Given the description of an element on the screen output the (x, y) to click on. 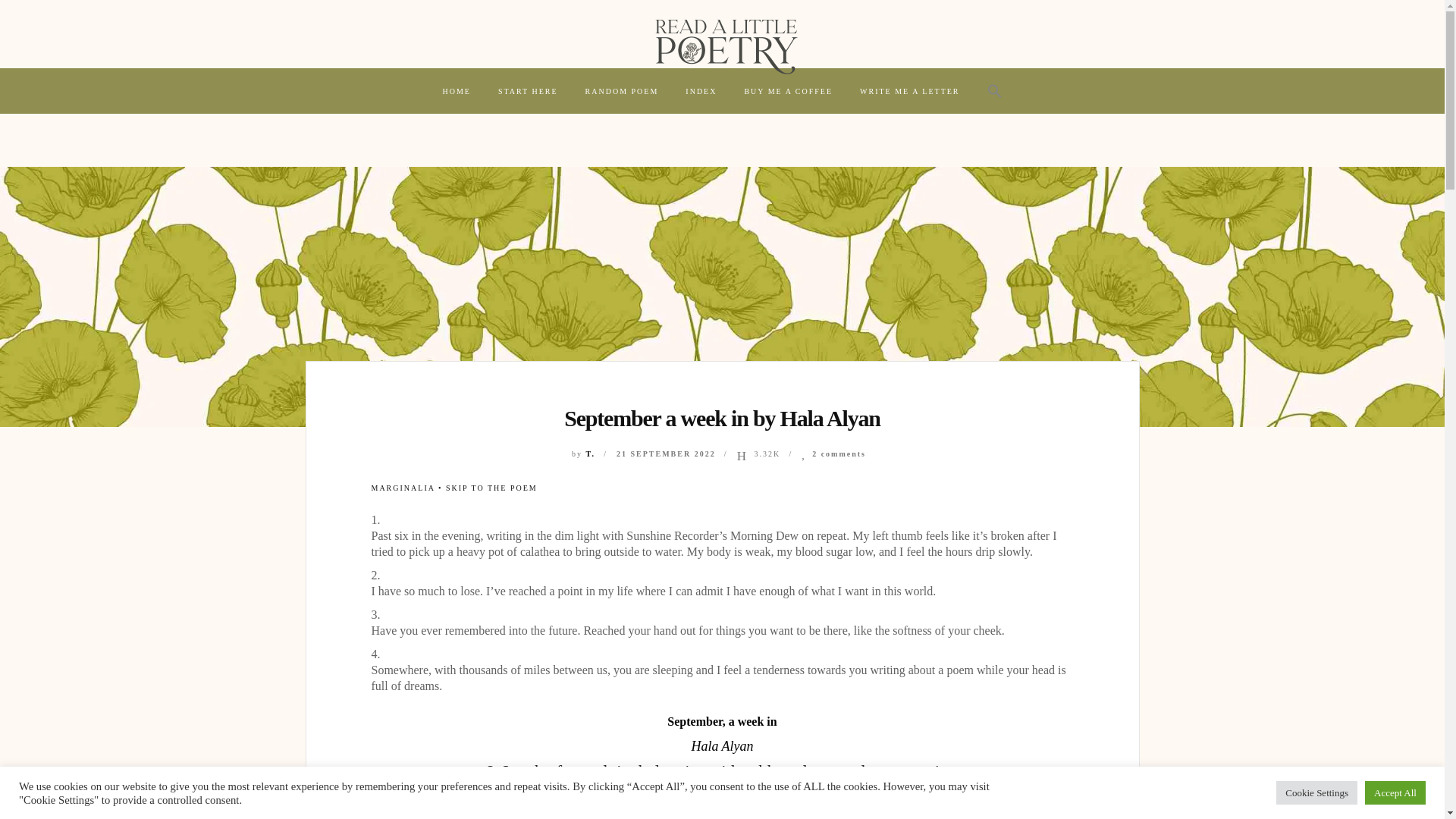
HOME (455, 90)
RANDOM POEM (622, 90)
INDEX (700, 90)
WRITE ME A LETTER (909, 90)
START HERE (528, 90)
BUY ME A COFFEE (787, 90)
